Given the description of an element on the screen output the (x, y) to click on. 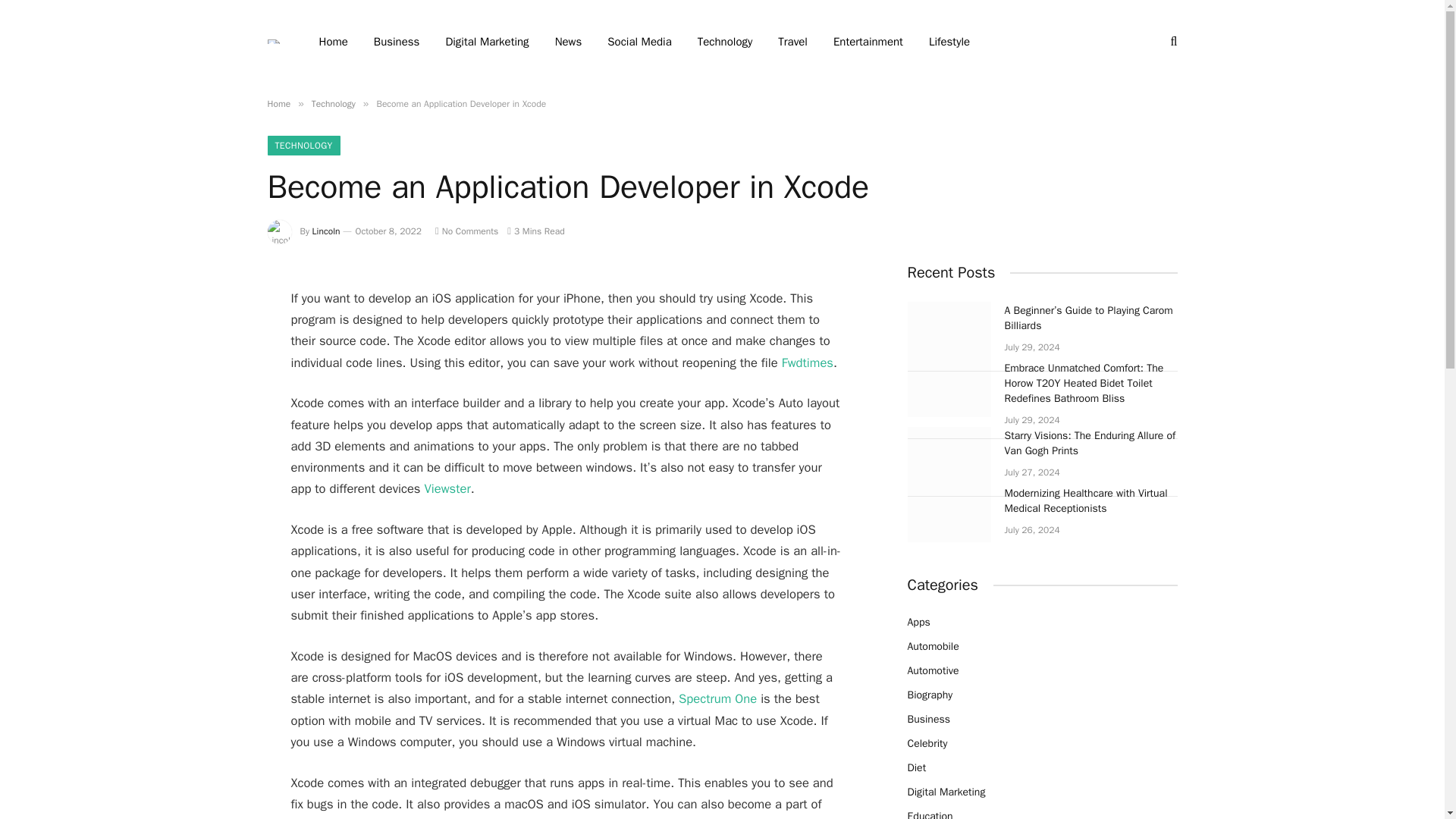
Fwdtimes (806, 362)
Technology (333, 103)
Spectrum One (717, 698)
Technology (724, 41)
TECHNOLOGY (302, 145)
Entertainment (868, 41)
Viewster (446, 488)
Home (277, 103)
Digital Marketing (486, 41)
No Comments (466, 231)
Posts by Lincoln (326, 231)
Starry Visions: The Enduring Allure of Van Gogh Prints (948, 455)
Lincoln (326, 231)
